Given the description of an element on the screen output the (x, y) to click on. 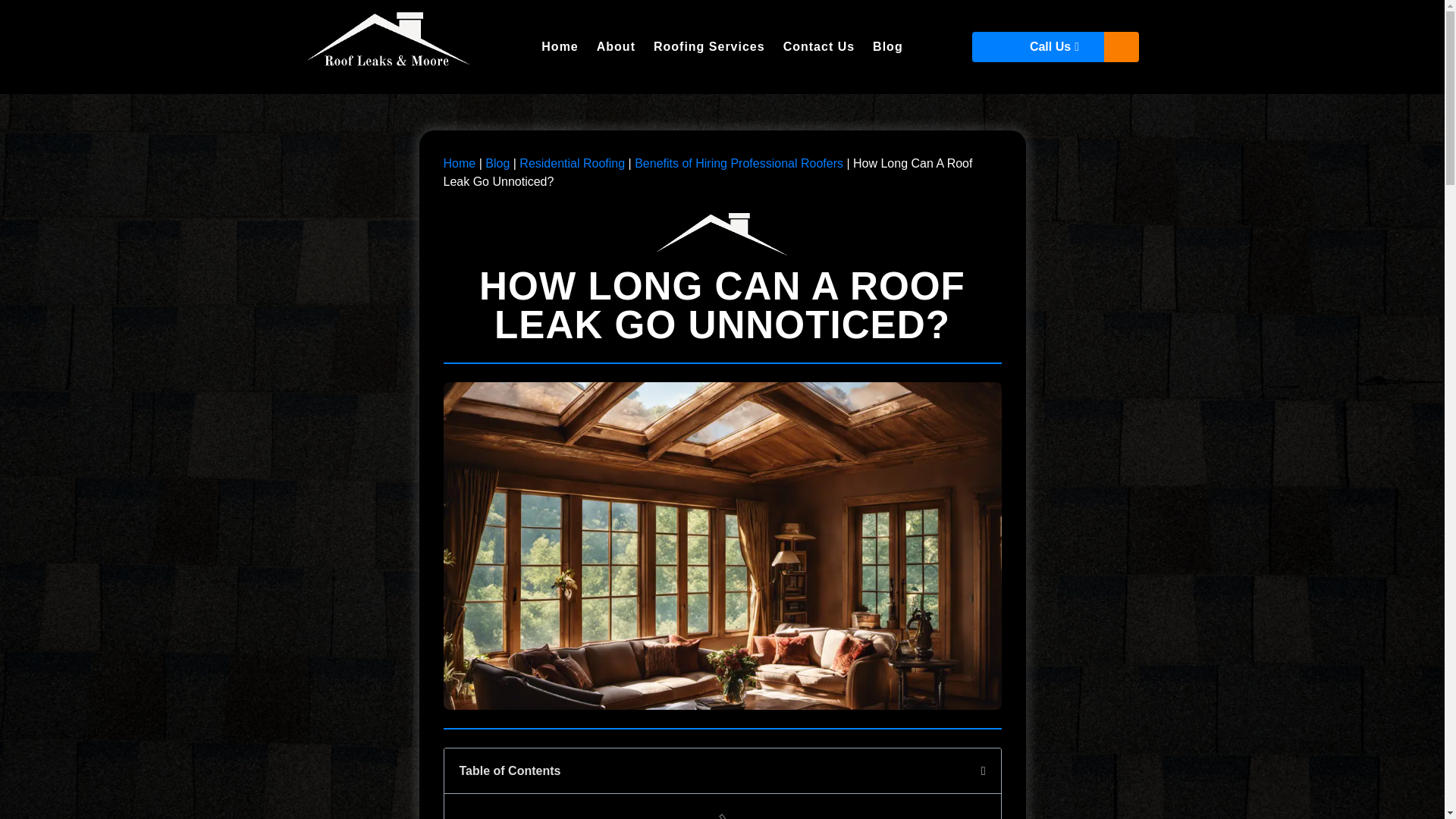
Home (559, 46)
Benefits of Hiring Professional Roofers (738, 163)
About (615, 46)
Call Us (1055, 46)
Roofing Services (709, 46)
Home (459, 163)
Home (459, 163)
Residential Roofing (571, 163)
Contact Us (818, 46)
Benefits of Hiring Professional Roofers (738, 163)
